Given the description of an element on the screen output the (x, y) to click on. 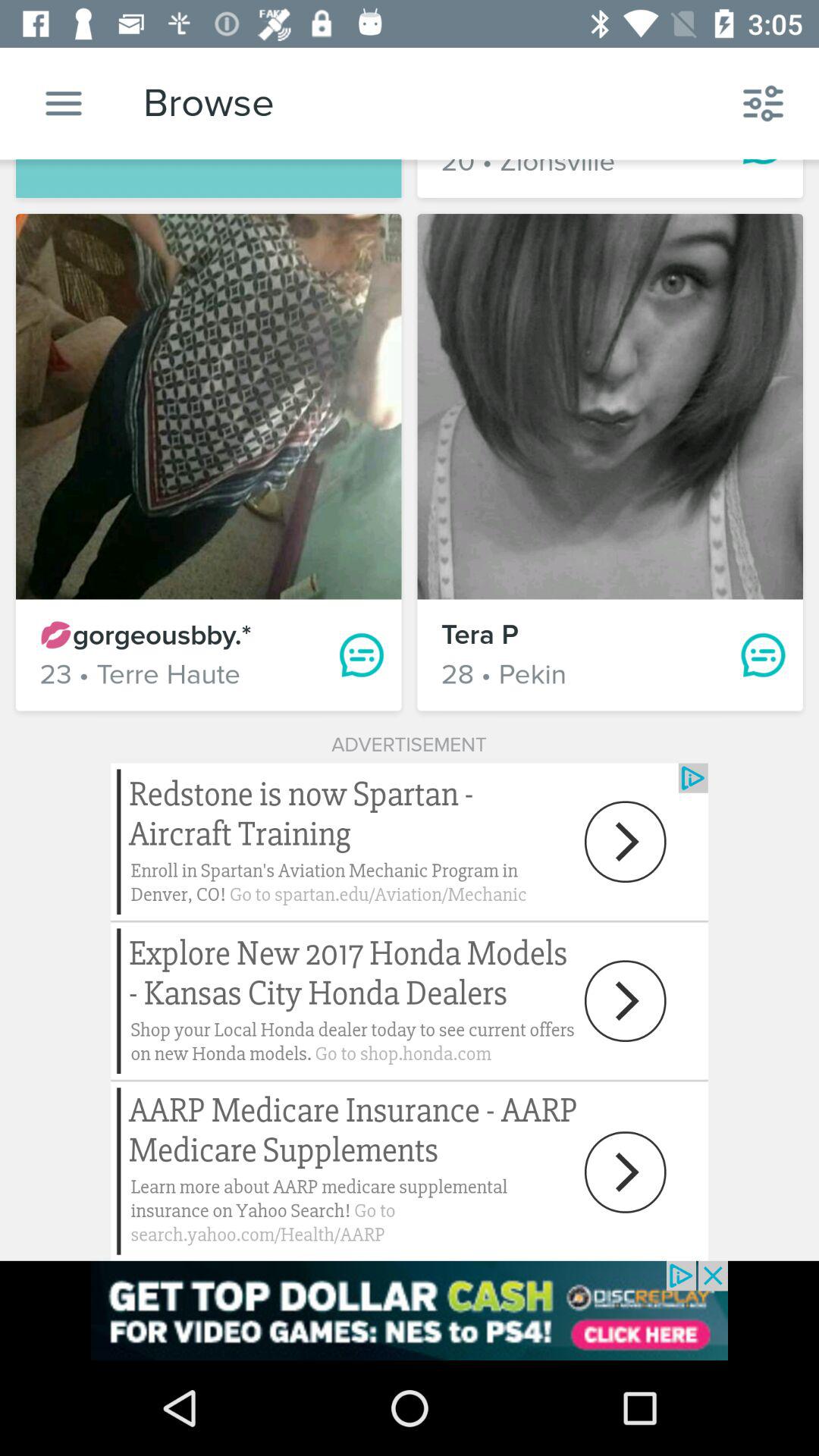
click to open (409, 1011)
